Given the description of an element on the screen output the (x, y) to click on. 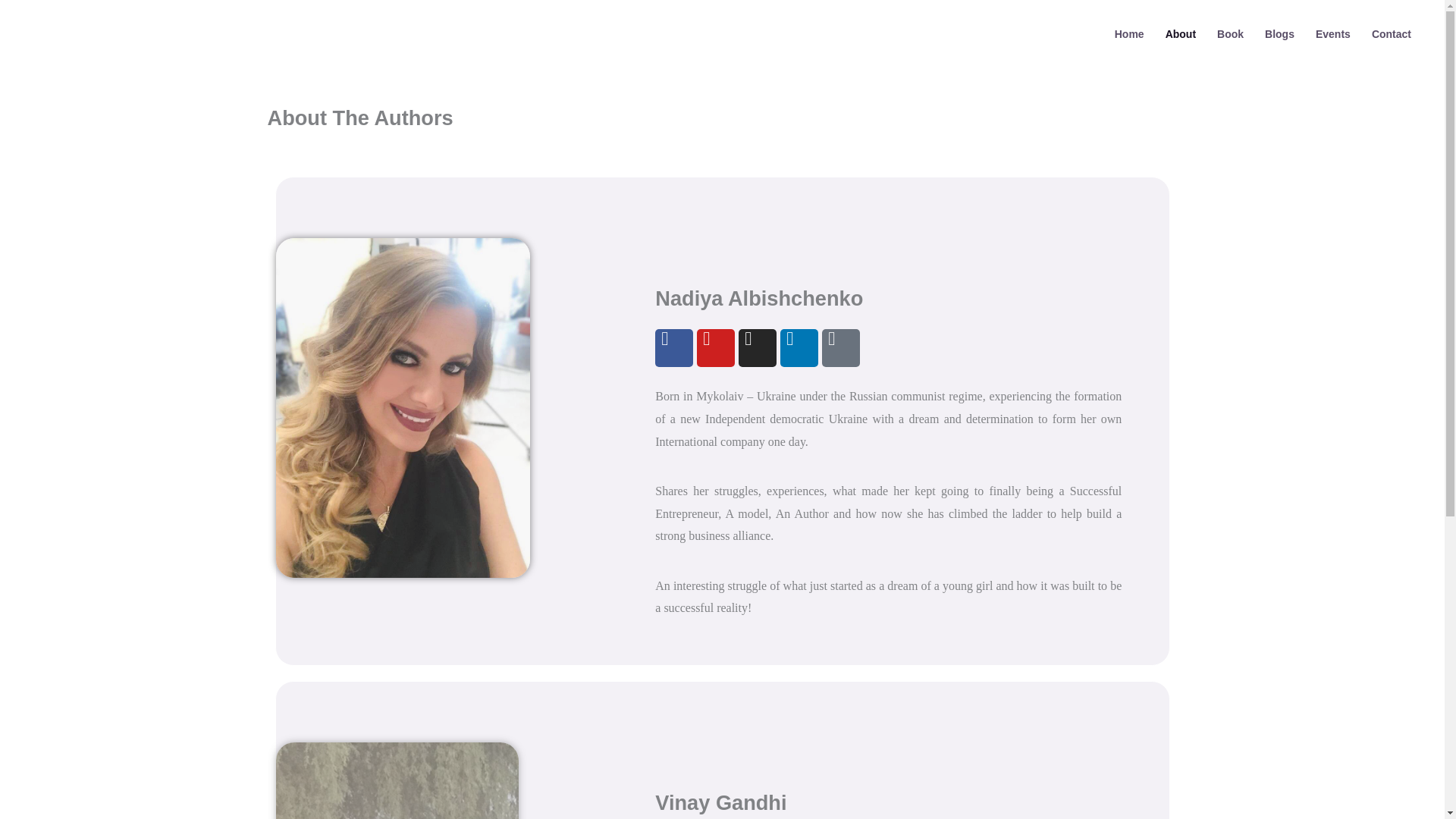
Blogs (1278, 33)
About (1180, 33)
Home (1128, 33)
Contact (1391, 33)
Book (1230, 33)
Events (1332, 33)
